Given the description of an element on the screen output the (x, y) to click on. 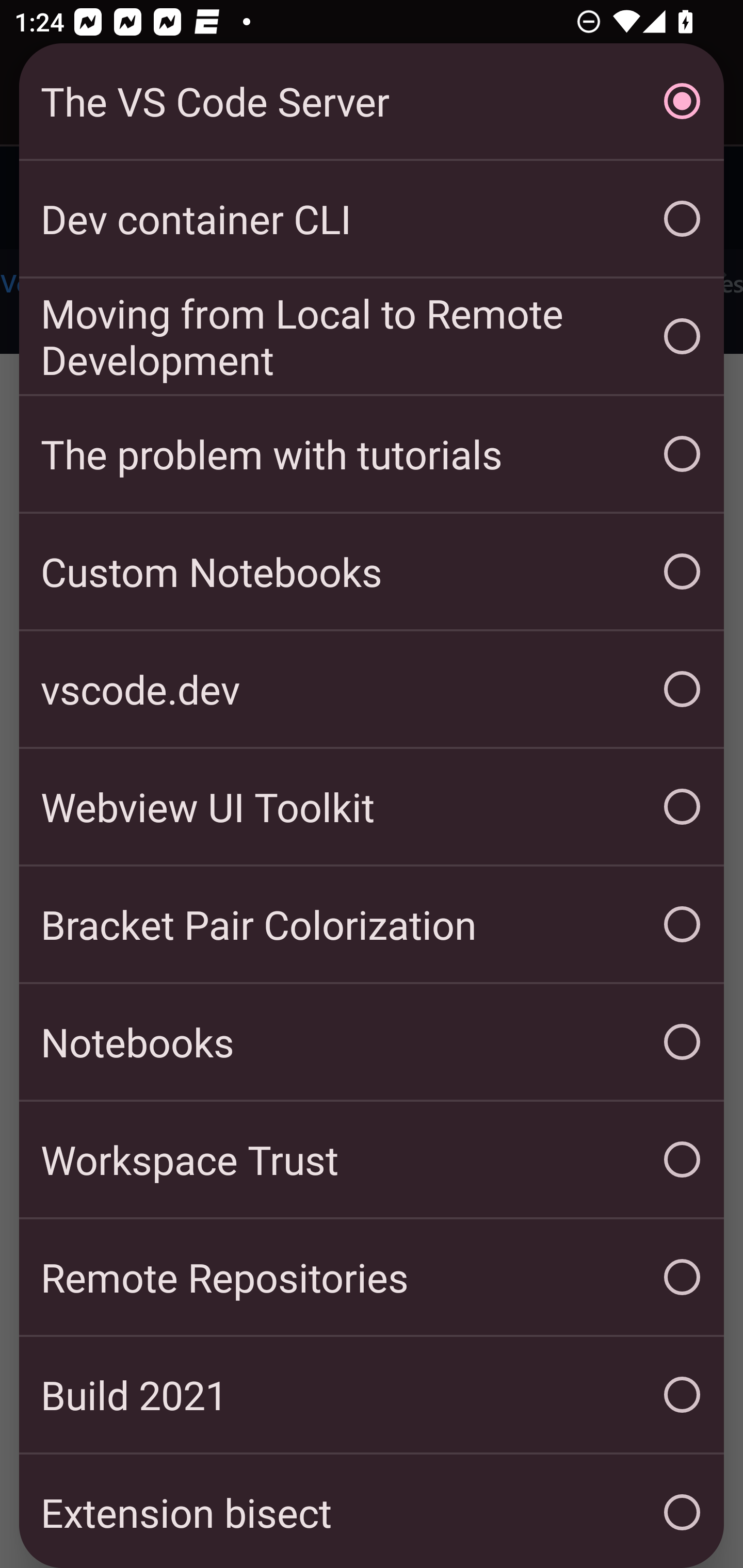
The VS Code Server (371, 100)
Dev container CLI (371, 218)
Moving from Local to Remote Development (371, 336)
The problem with tutorials (371, 453)
Custom Notebooks (371, 571)
vscode.dev (371, 688)
Webview UI Toolkit (371, 806)
Bracket Pair Colorization (371, 924)
Notebooks (371, 1041)
Workspace Trust (371, 1159)
Remote Repositories (371, 1276)
Build 2021 (371, 1394)
Extension bisect (371, 1511)
